Given the description of an element on the screen output the (x, y) to click on. 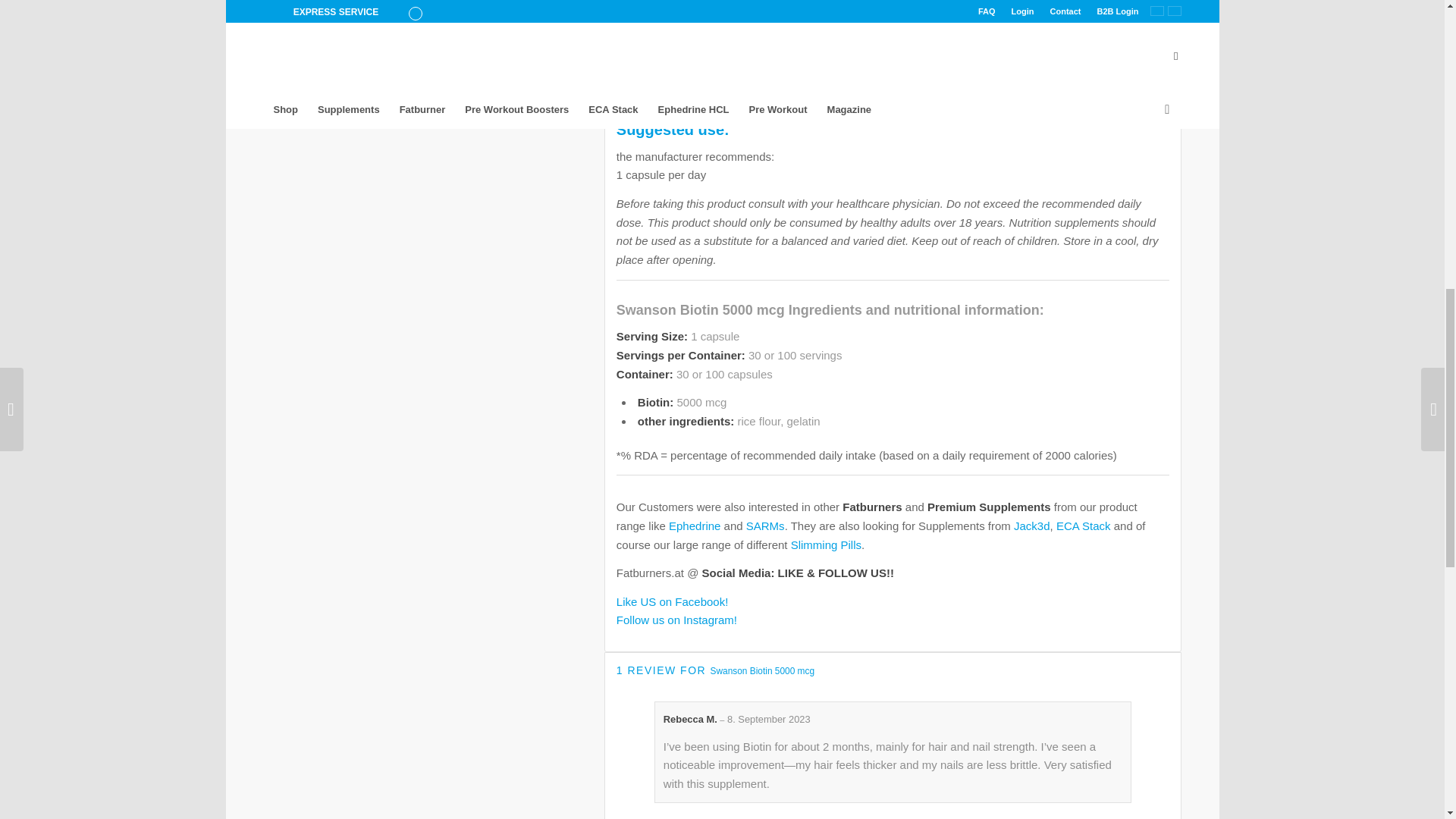
Follow us on Instagram (675, 619)
Ephedrine for sale (694, 525)
Buy SARMs (764, 525)
Like us on Facebook (672, 601)
